Given the description of an element on the screen output the (x, y) to click on. 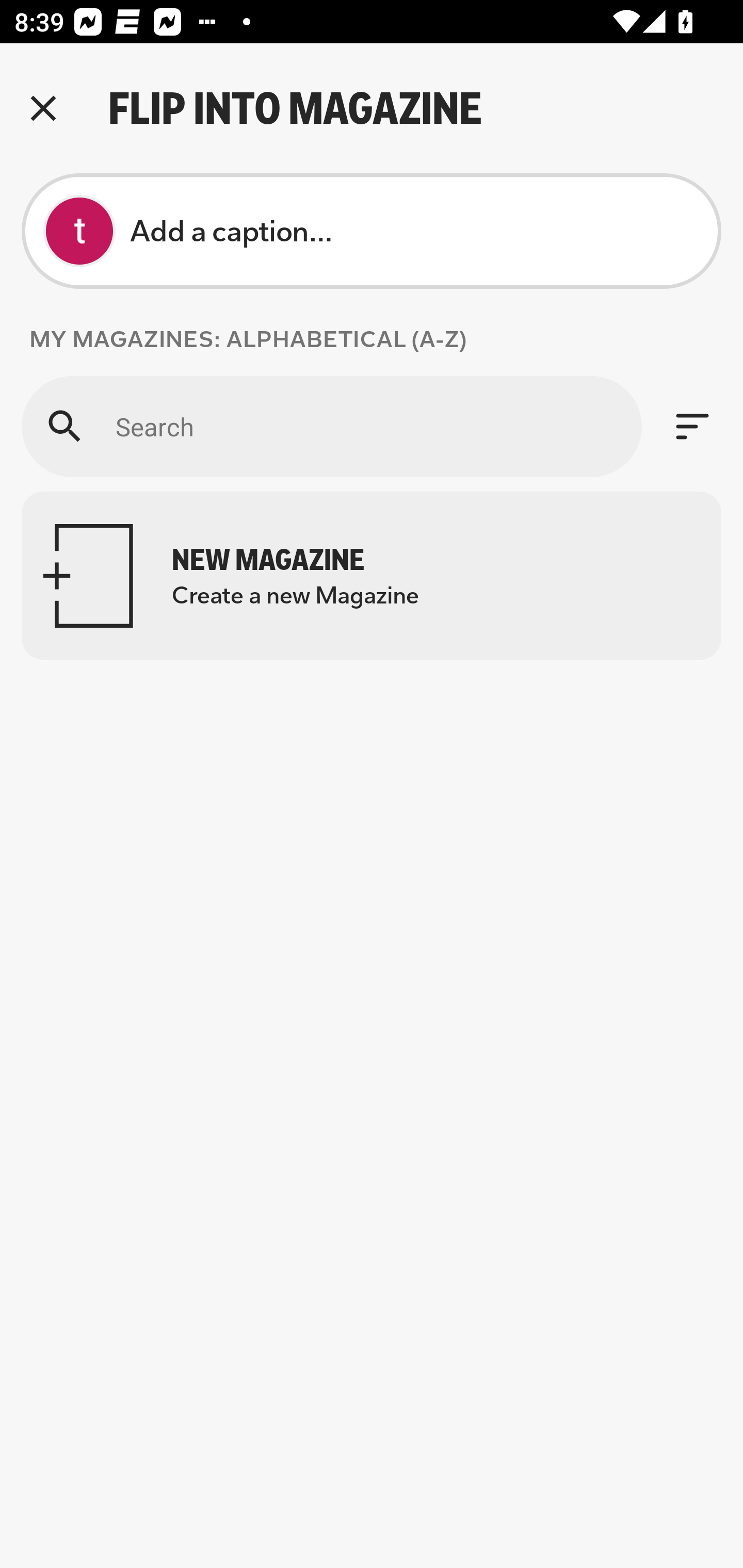
test appium Add a caption… (371, 231)
Search (331, 426)
NEW MAGAZINE Create a new Magazine (371, 575)
